Given the description of an element on the screen output the (x, y) to click on. 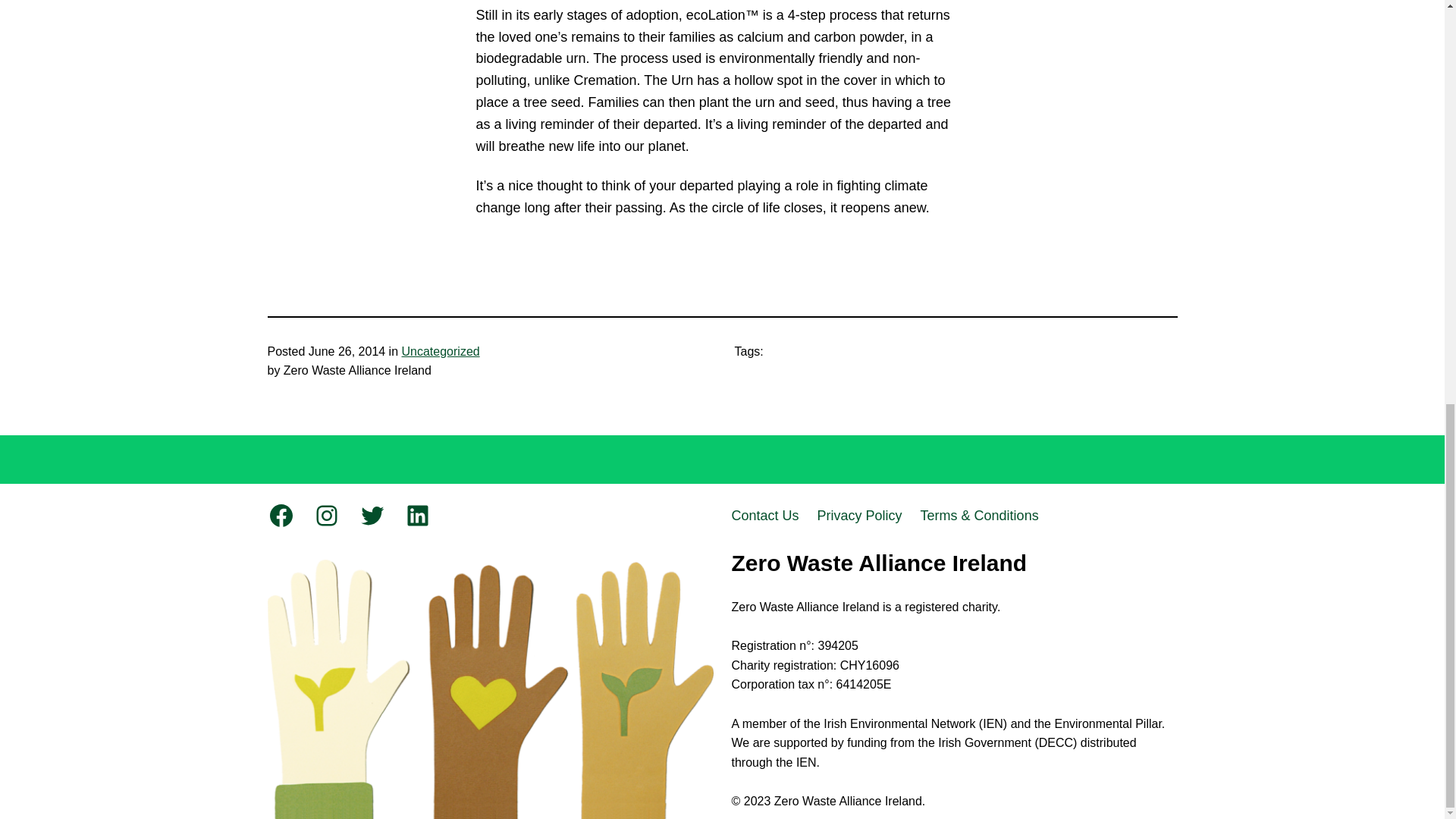
LinkedIn (416, 515)
Uncategorized (440, 350)
Contact Us (763, 516)
Privacy Policy (859, 516)
Twitter (371, 515)
Facebook (280, 515)
Instagram (326, 515)
